Given the description of an element on the screen output the (x, y) to click on. 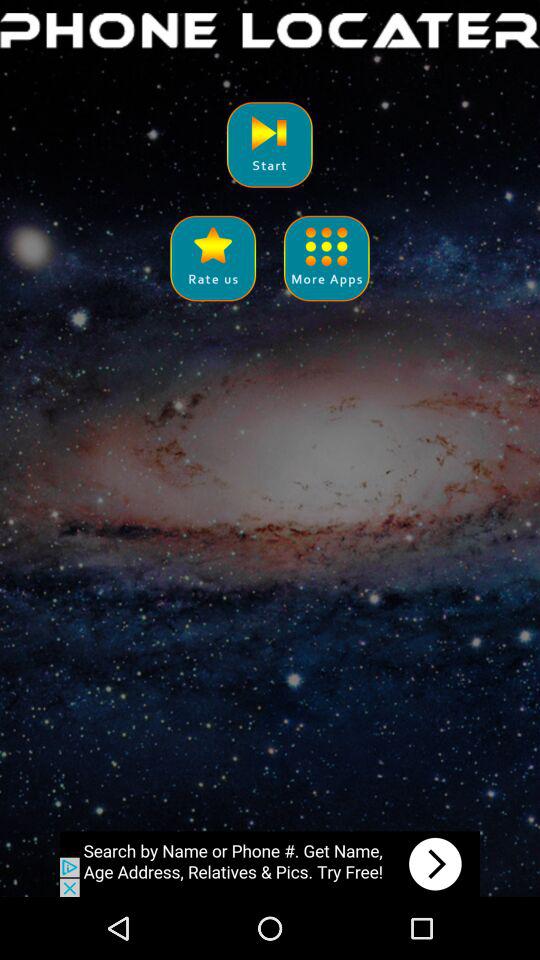
start option (269, 144)
